Given the description of an element on the screen output the (x, y) to click on. 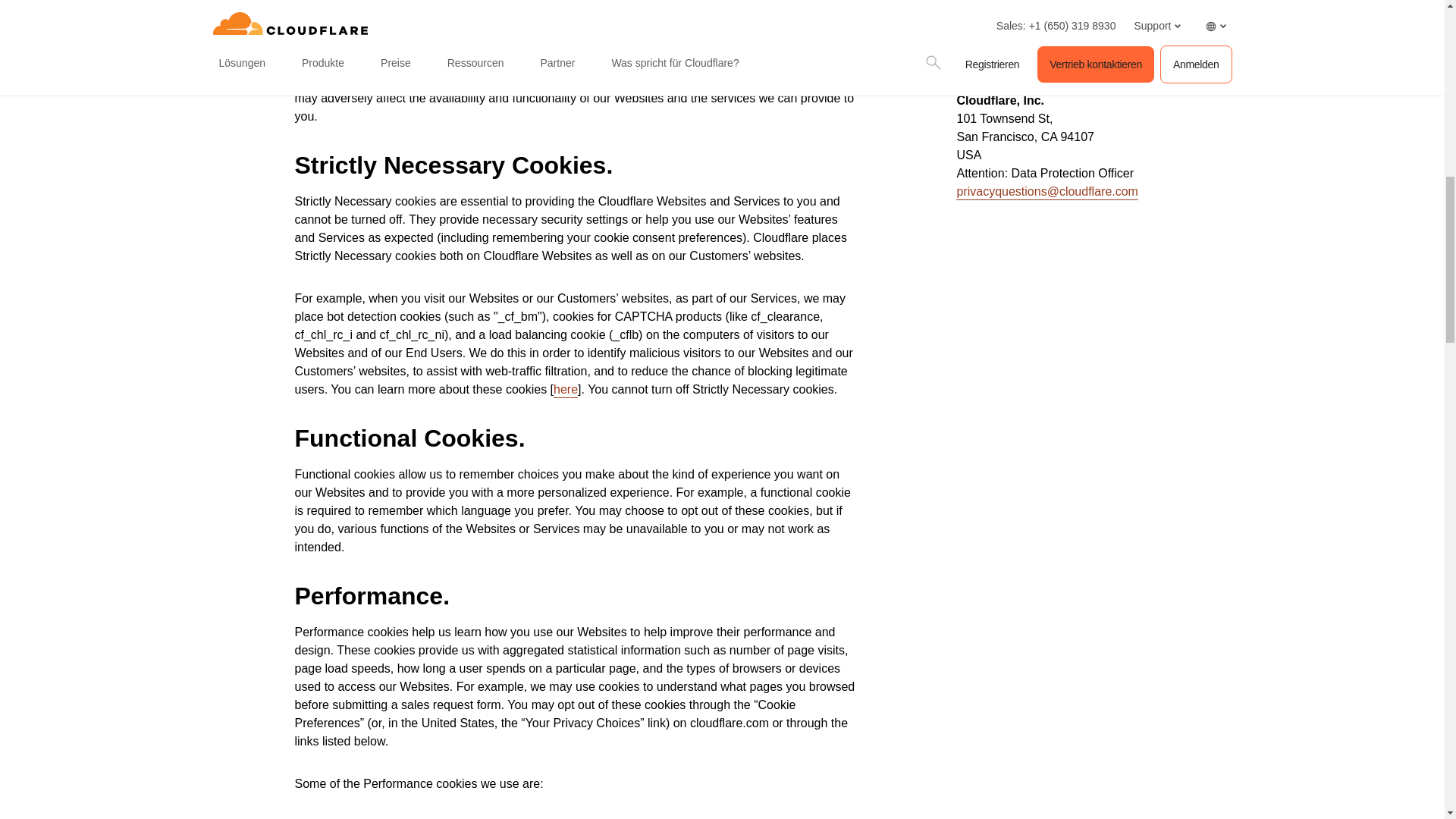
cloudflare.com (485, 4)
here (565, 390)
